Given the description of an element on the screen output the (x, y) to click on. 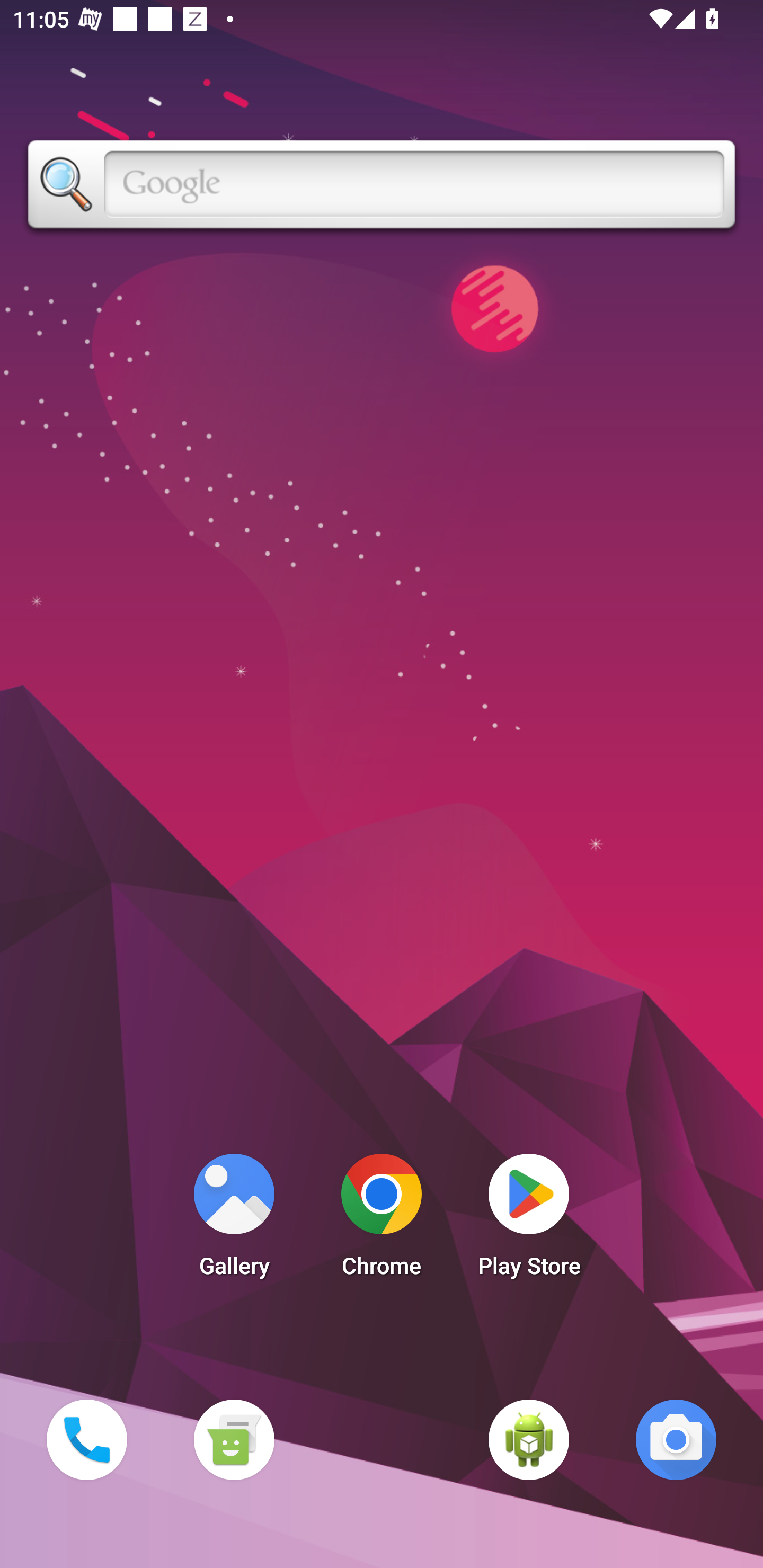
Gallery (233, 1220)
Chrome (381, 1220)
Play Store (528, 1220)
Phone (86, 1439)
Messaging (233, 1439)
WebView Browser Tester (528, 1439)
Camera (676, 1439)
